Given the description of an element on the screen output the (x, y) to click on. 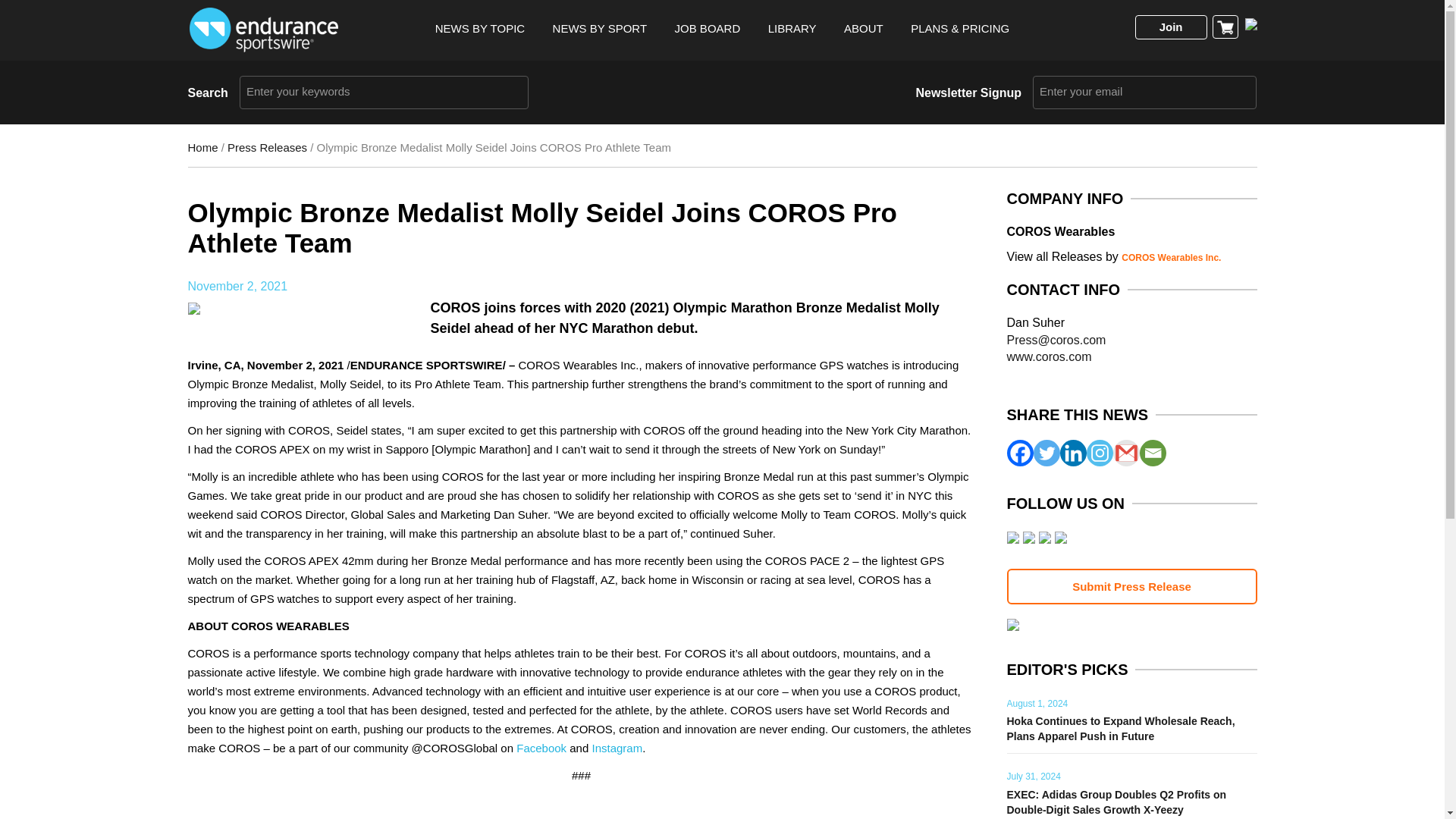
Posts by COROS Wearables Inc. (1171, 257)
NEWS BY TOPIC (479, 28)
Google Gmail (1126, 452)
NEWS BY SPORT (599, 28)
Facebook (1020, 452)
ABOUT (863, 28)
Instagram (1099, 452)
Linkedin (1072, 452)
JOB BOARD (708, 28)
LIBRARY (792, 28)
